Given the description of an element on the screen output the (x, y) to click on. 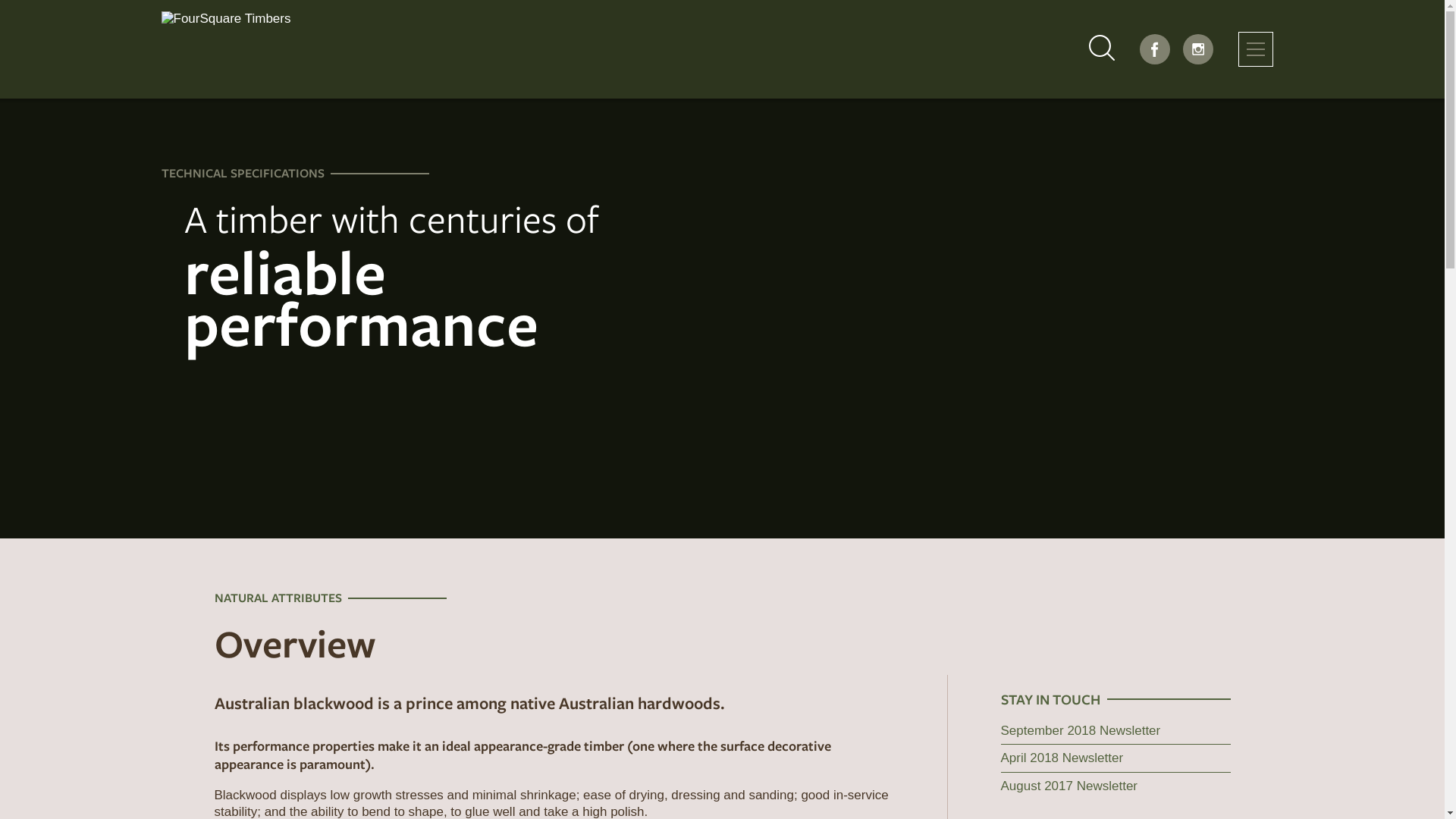
April 2018 Newsletter Element type: text (1062, 757)
August 2017 Newsletter Element type: text (1069, 785)
September 2018 Newsletter Element type: text (1081, 730)
Follow us on Instagram Element type: hover (1198, 49)
FourSquare Timbers Element type: hover (440, 49)
Follow us on Facebook Element type: hover (1154, 49)
